Given the description of an element on the screen output the (x, y) to click on. 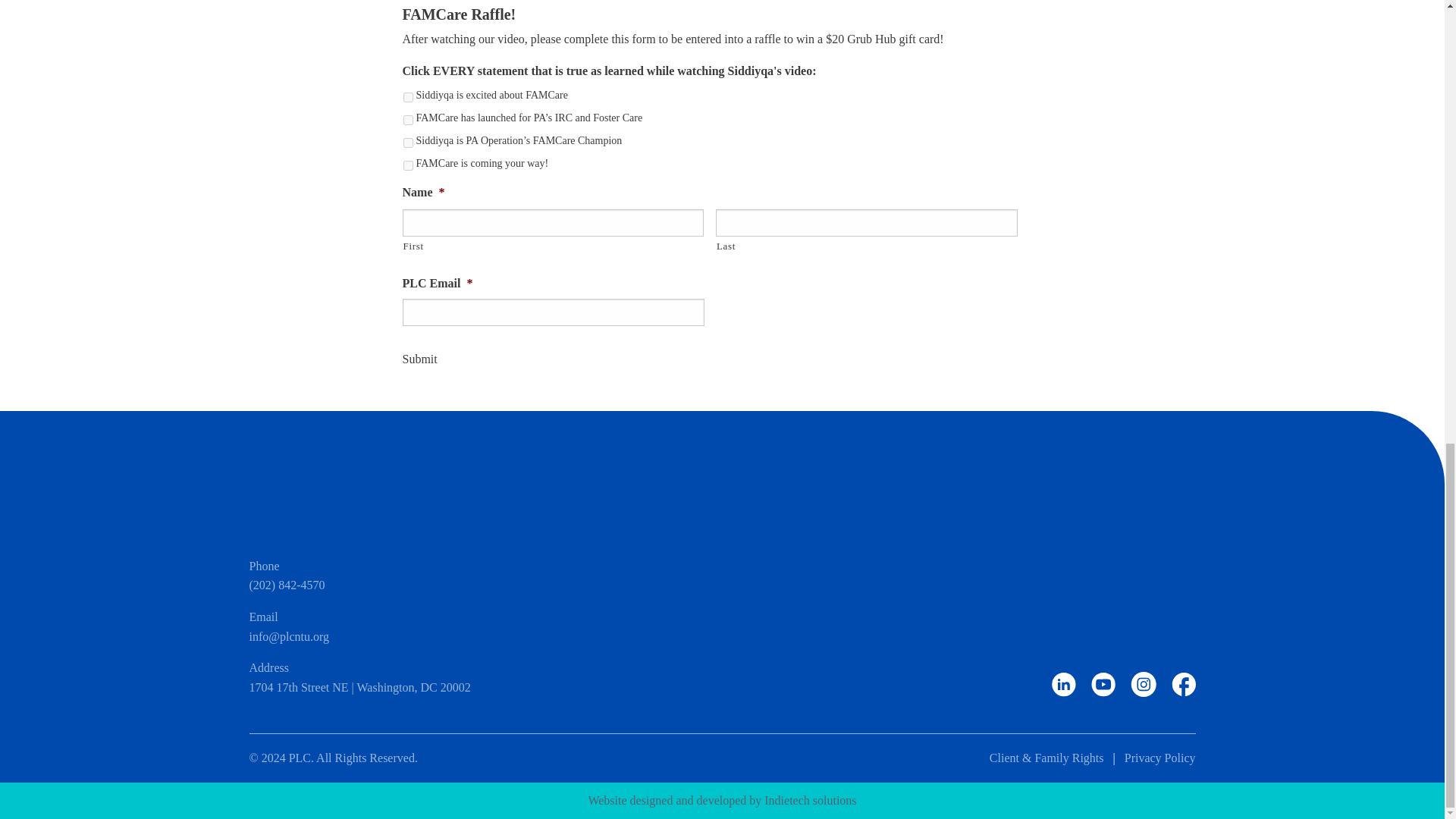
FAMCare has launched for PA's IRC and Foster Care (408, 120)
Submit (418, 359)
Siddiyqa is excited about FAMCare (408, 97)
Submit (418, 359)
FAMCare is coming your way! (408, 165)
Siddiyqa is PA Operation's FAMCare Champion (408, 143)
Indietech solutions (810, 799)
Privacy Policy (1159, 758)
